Given the description of an element on the screen output the (x, y) to click on. 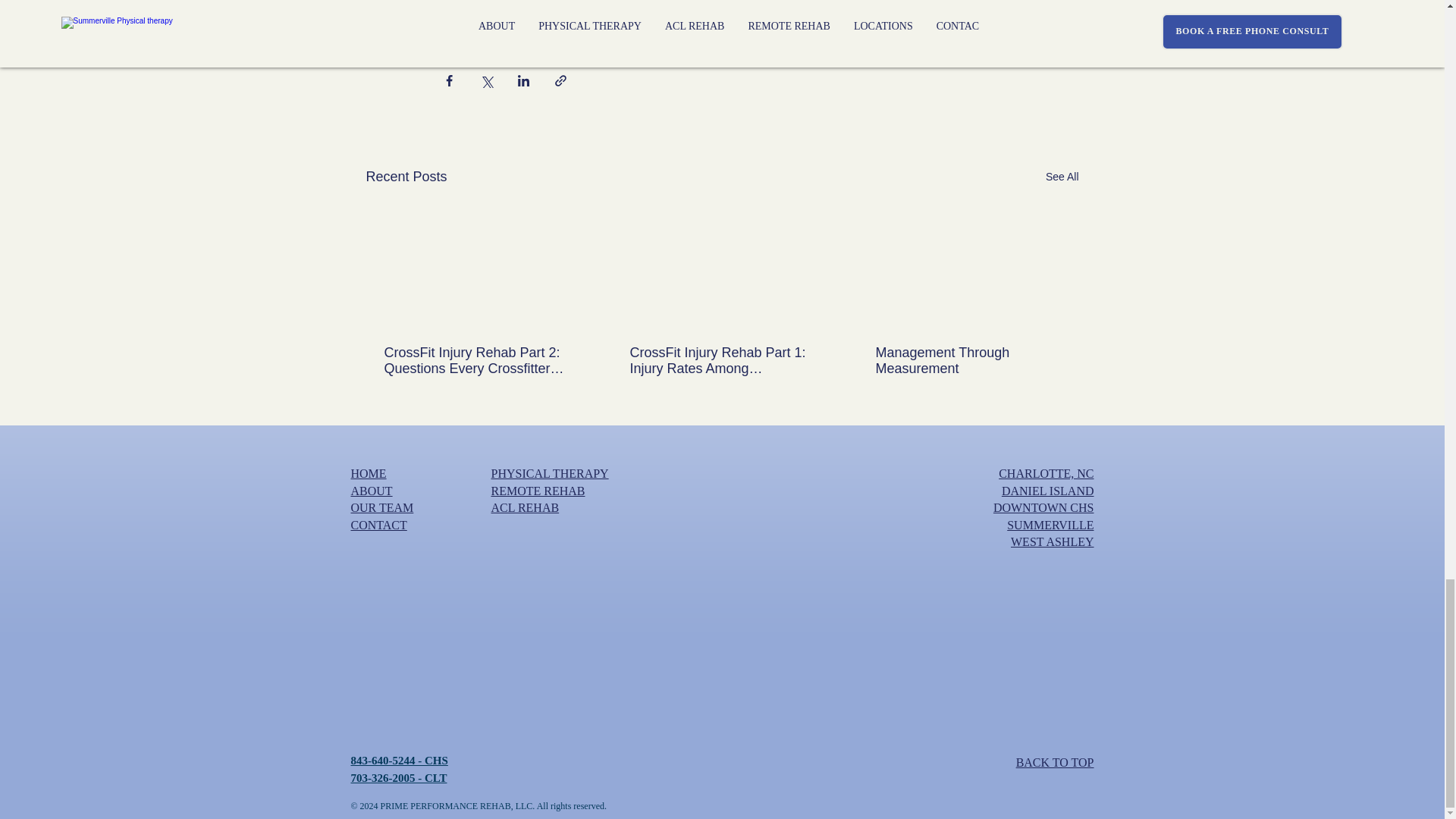
See All (1061, 177)
Management Through Measurement (966, 360)
HOME (367, 472)
